Given the description of an element on the screen output the (x, y) to click on. 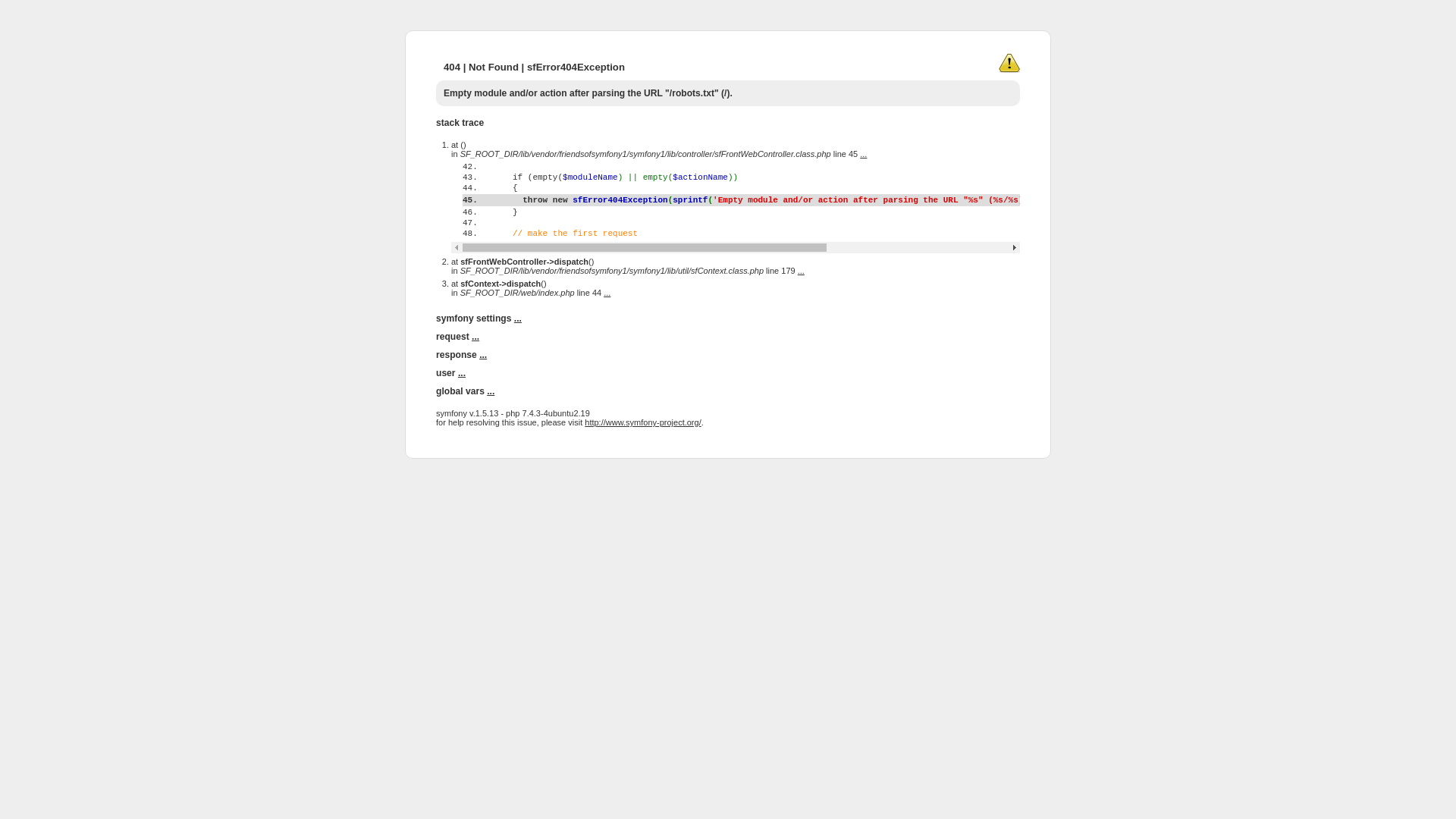
... Element type: text (862, 153)
... Element type: text (517, 318)
... Element type: text (482, 354)
... Element type: text (490, 390)
http://www.symfony-project.org/ Element type: text (642, 421)
... Element type: text (606, 292)
... Element type: text (475, 336)
... Element type: text (800, 270)
... Element type: text (461, 372)
